Given the description of an element on the screen output the (x, y) to click on. 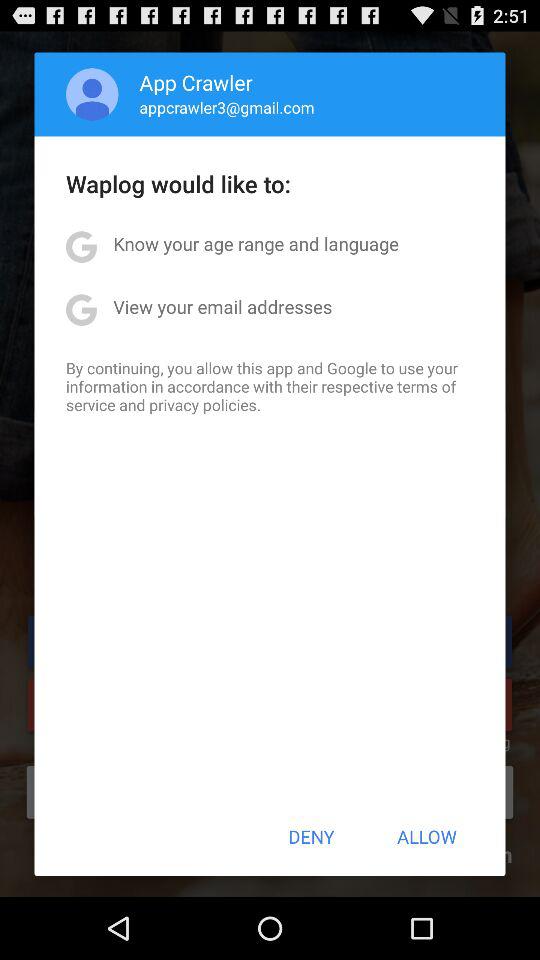
click appcrawler3@gmail.com (226, 107)
